Given the description of an element on the screen output the (x, y) to click on. 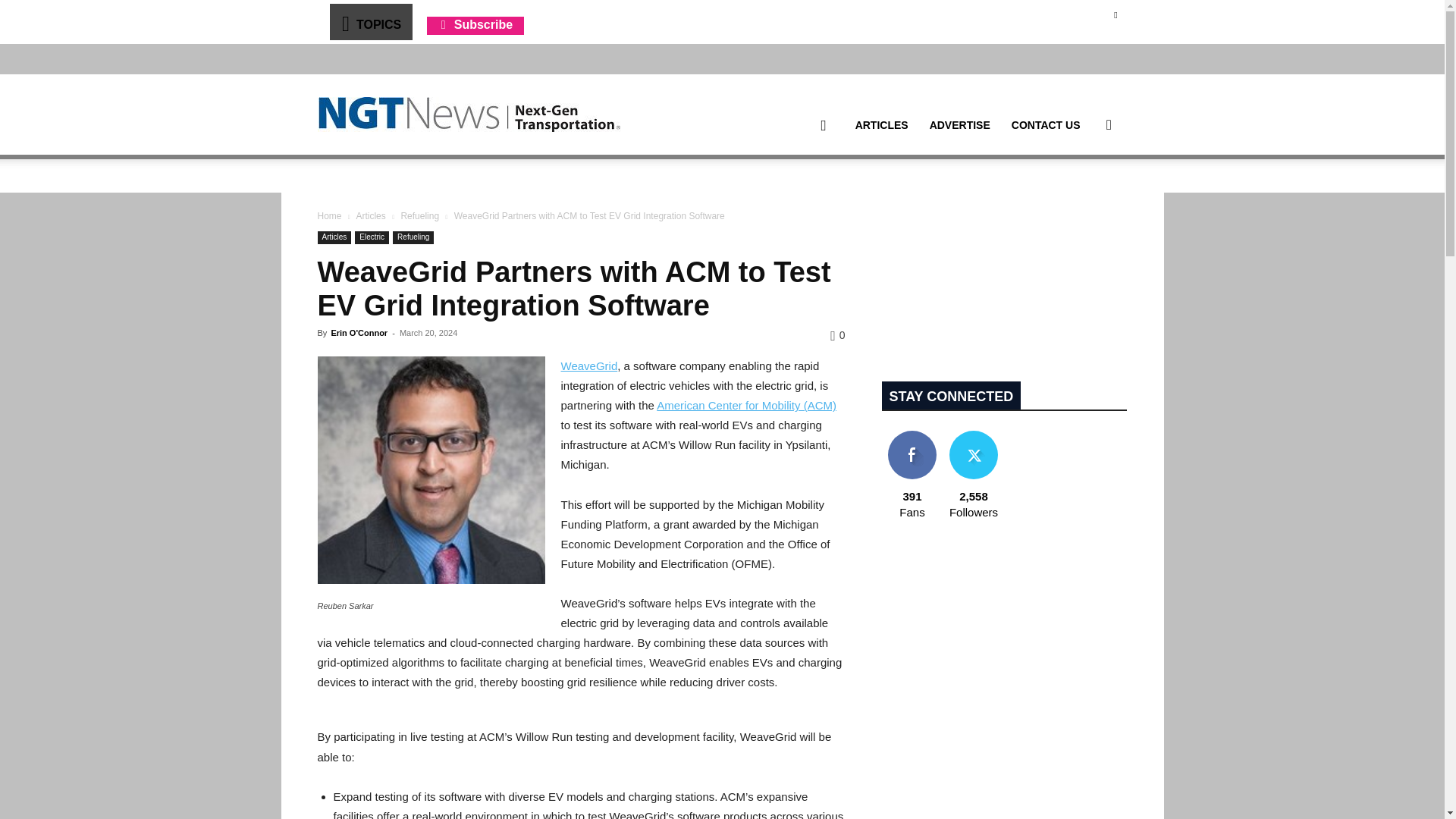
Alternative Fuel News, CNG News (468, 114)
Twitter (1114, 14)
TOPICS (370, 22)
NGT News (468, 114)
Subscribe (475, 24)
ARTICLES (881, 124)
Search (1085, 197)
